Given the description of an element on the screen output the (x, y) to click on. 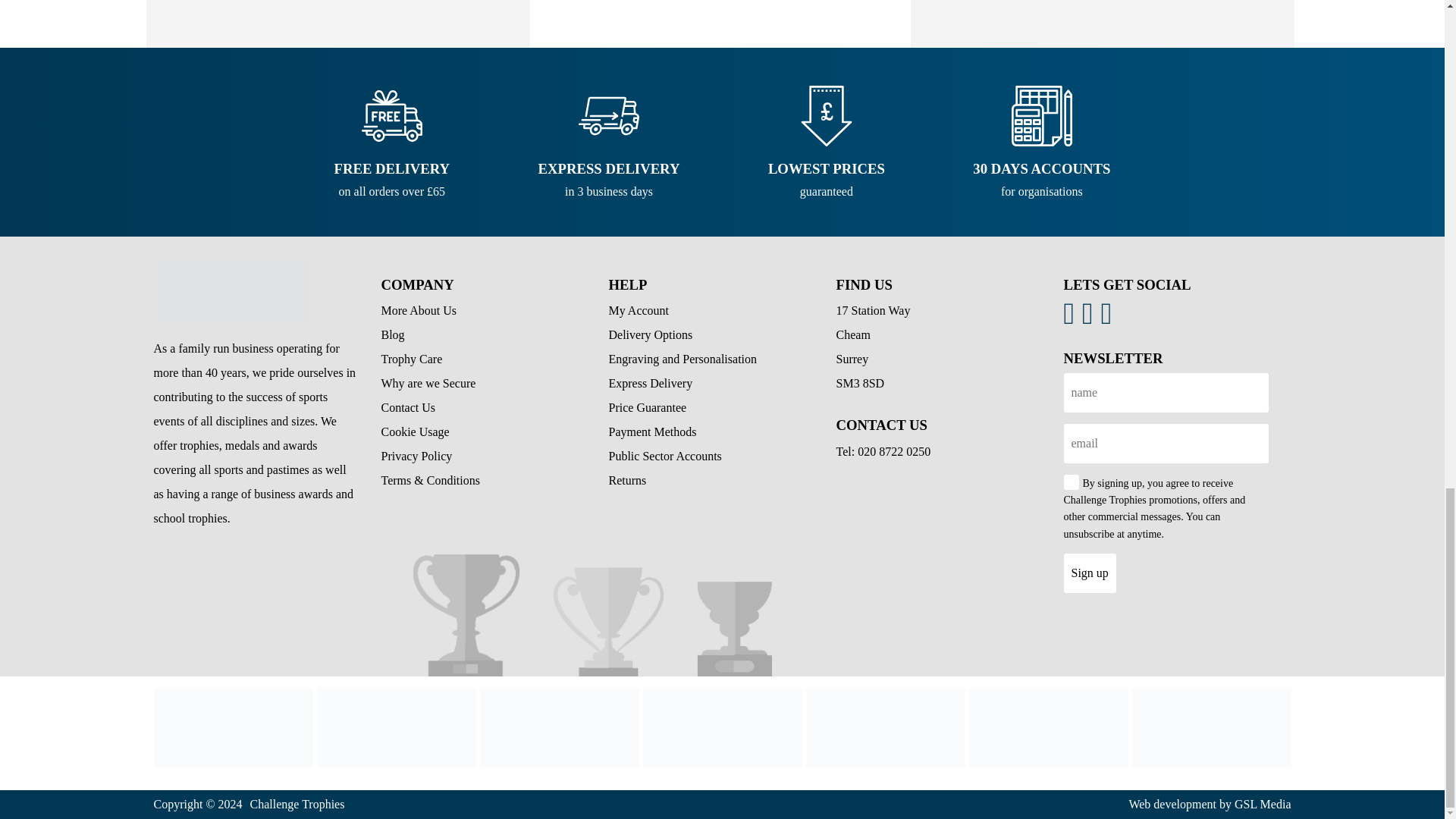
Price Guarantee (230, 290)
Engraving and Personalisation (682, 358)
More About Us (418, 309)
Price Guarantee (232, 727)
Payment Methods (884, 727)
Price Guarantee (396, 727)
Price Guarantee (559, 727)
Price Guarantee (1048, 727)
Sign up (1088, 572)
Price Guarantee (646, 407)
